Given the description of an element on the screen output the (x, y) to click on. 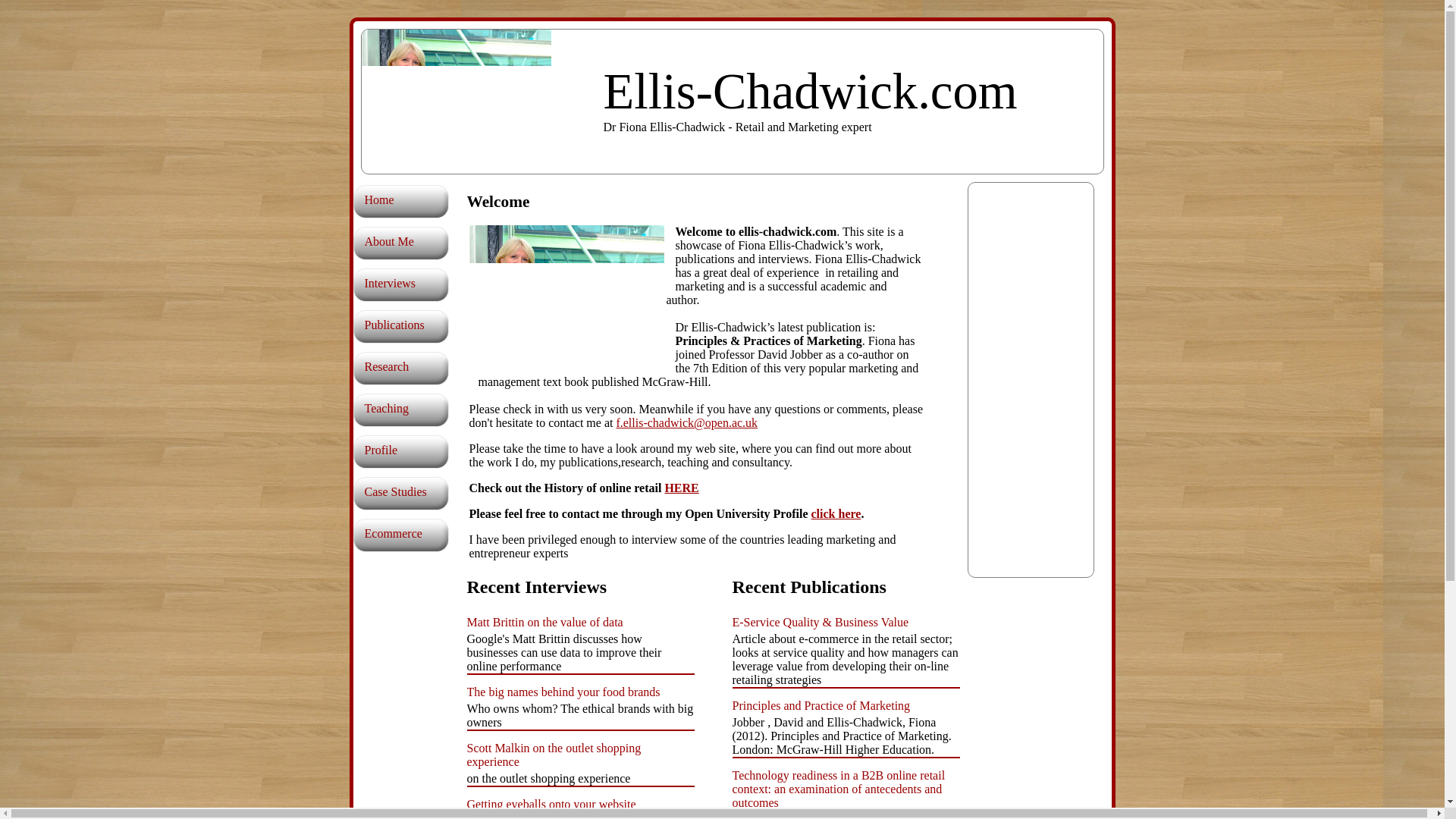
About Me (417, 241)
Ecommerce (680, 487)
Research (417, 366)
Getting eyeballs onto your website (551, 804)
Home (417, 200)
The big names behind your food brands (564, 692)
Teaching (417, 408)
Publications (417, 325)
Profile (417, 450)
HERE (680, 487)
